Given the description of an element on the screen output the (x, y) to click on. 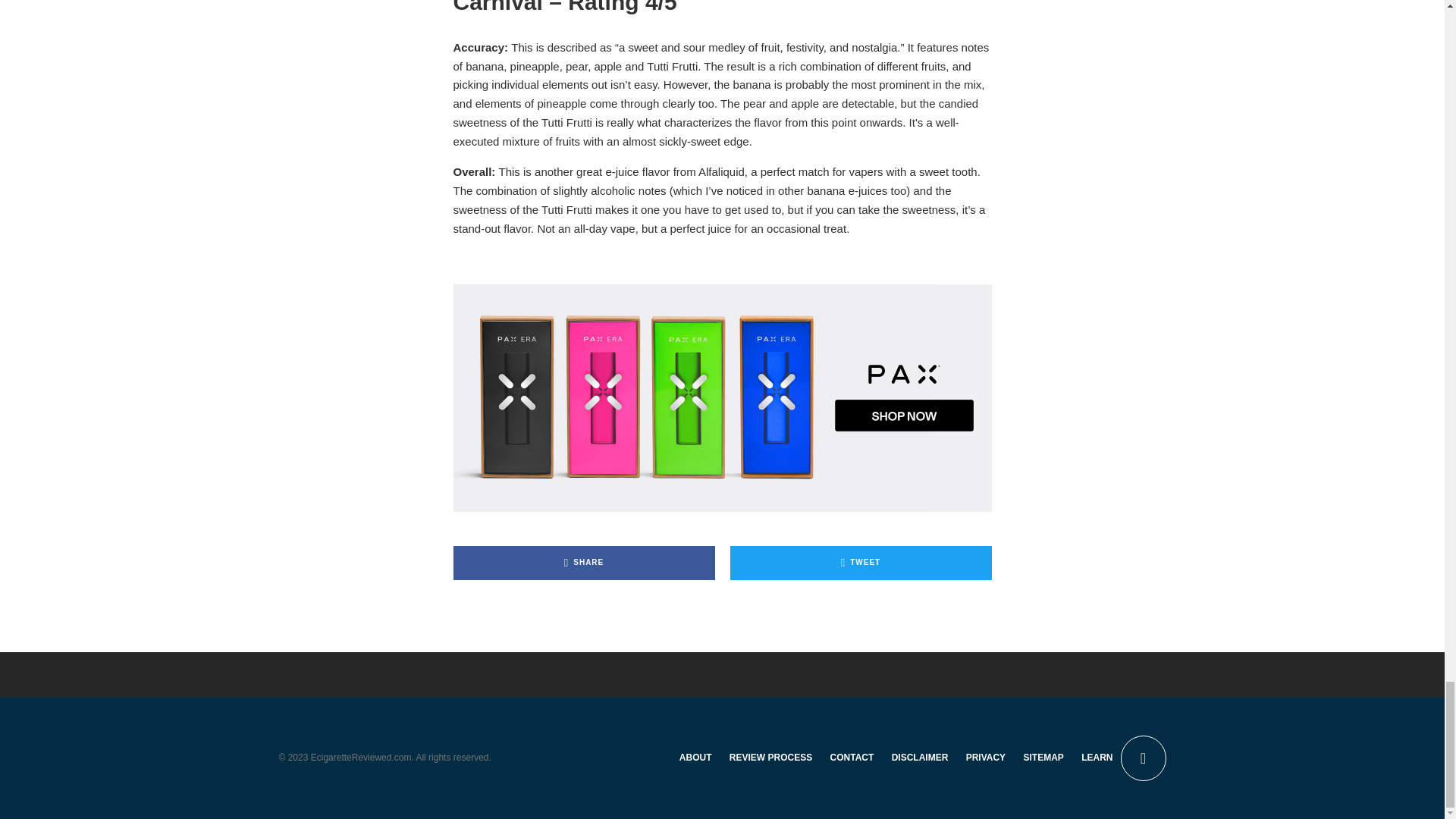
SHARE (583, 562)
TWEET (860, 562)
